Given the description of an element on the screen output the (x, y) to click on. 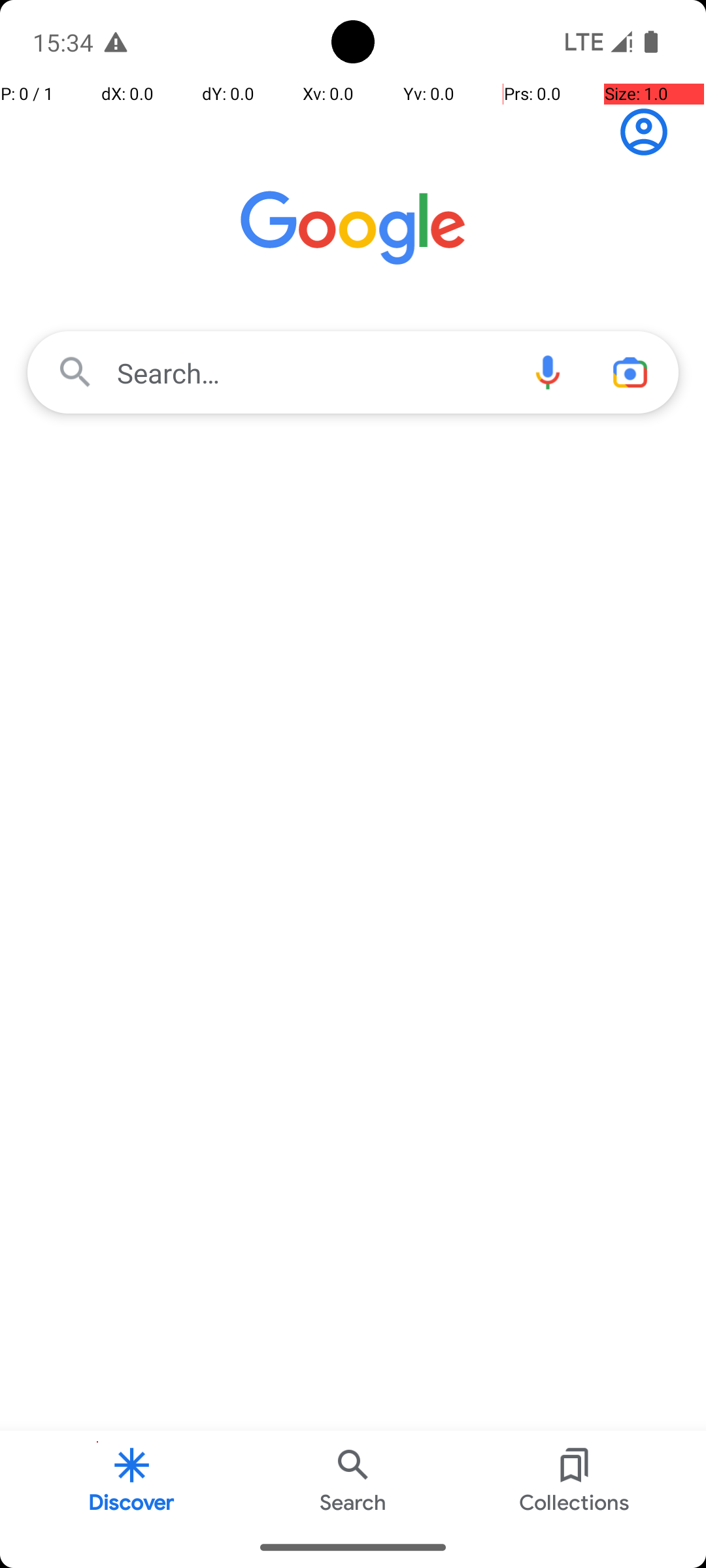
Sign in Element type: android.widget.FrameLayout (650, 131)
Camera search Element type: android.widget.ImageButton (629, 372)
Discover Element type: android.widget.FrameLayout (131, 1478)
Collections Button Element type: android.widget.FrameLayout (574, 1478)
